Given the description of an element on the screen output the (x, y) to click on. 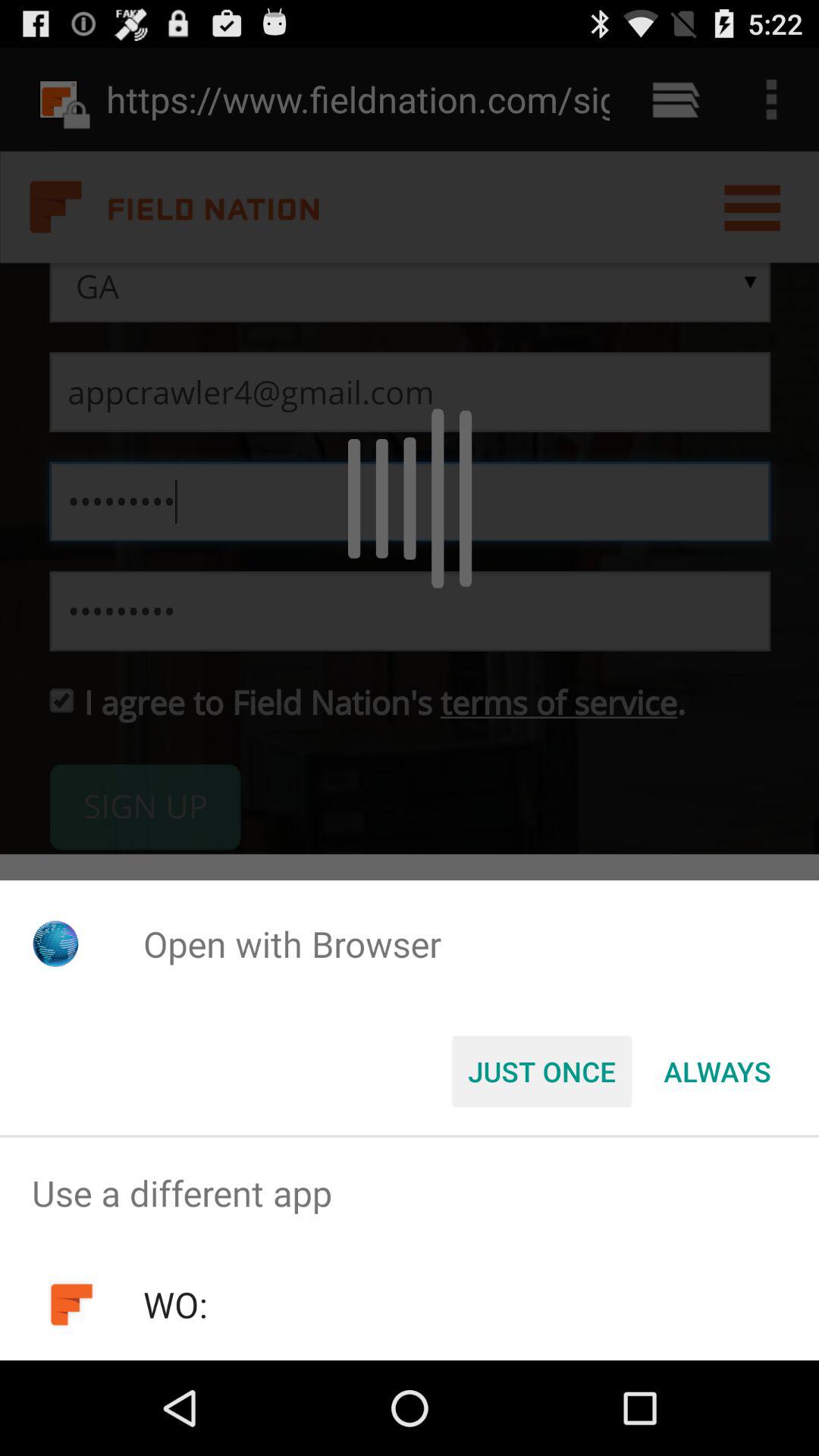
click the button to the left of the always icon (541, 1071)
